Given the description of an element on the screen output the (x, y) to click on. 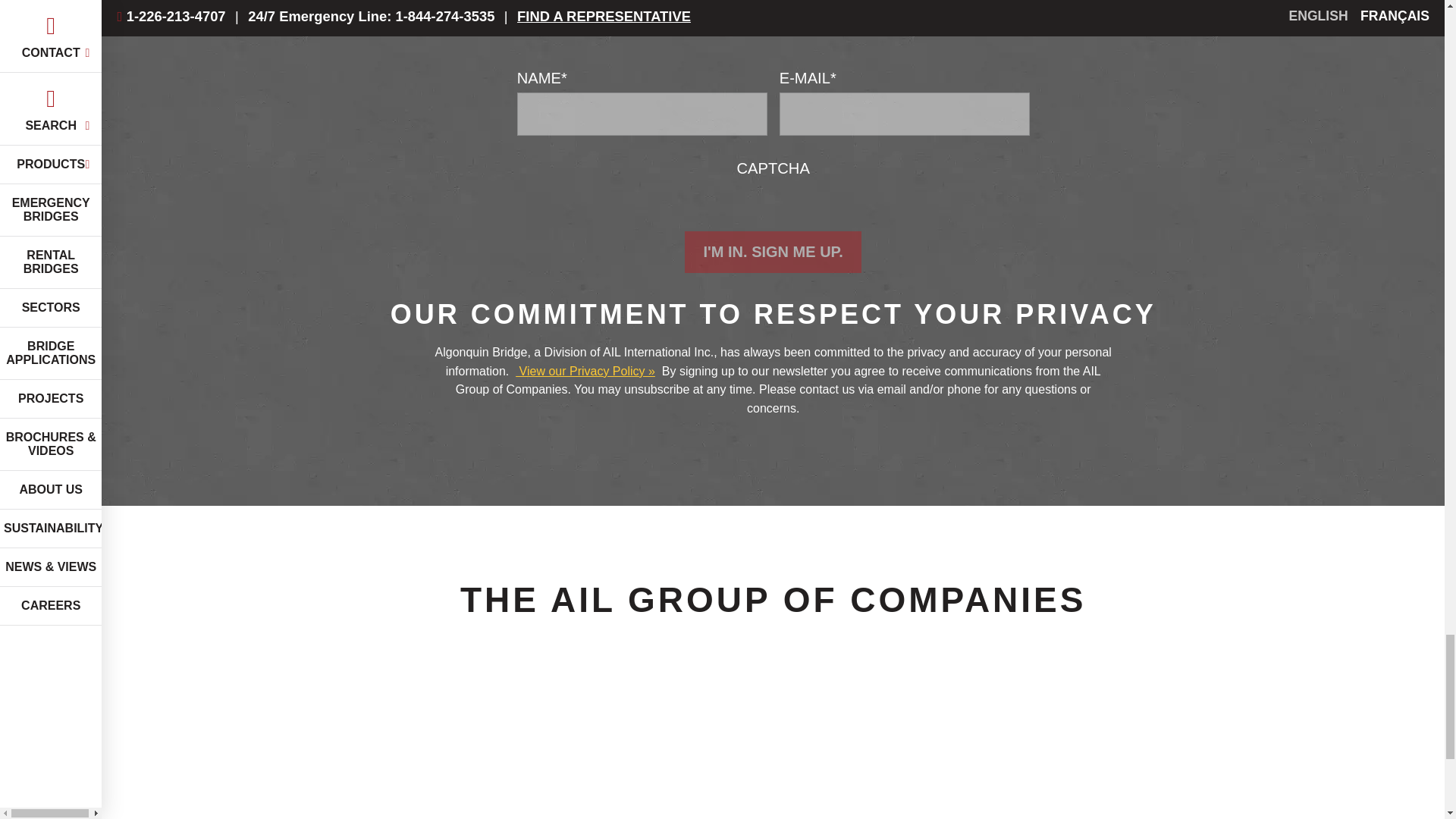
Algonquin Bridge (556, 778)
AIL Internatinoal (784, 778)
I'm in. Sign me up. (772, 251)
AIL Mining (1241, 778)
AIL (328, 778)
AIL Soundwalls (1013, 778)
